Given the description of an element on the screen output the (x, y) to click on. 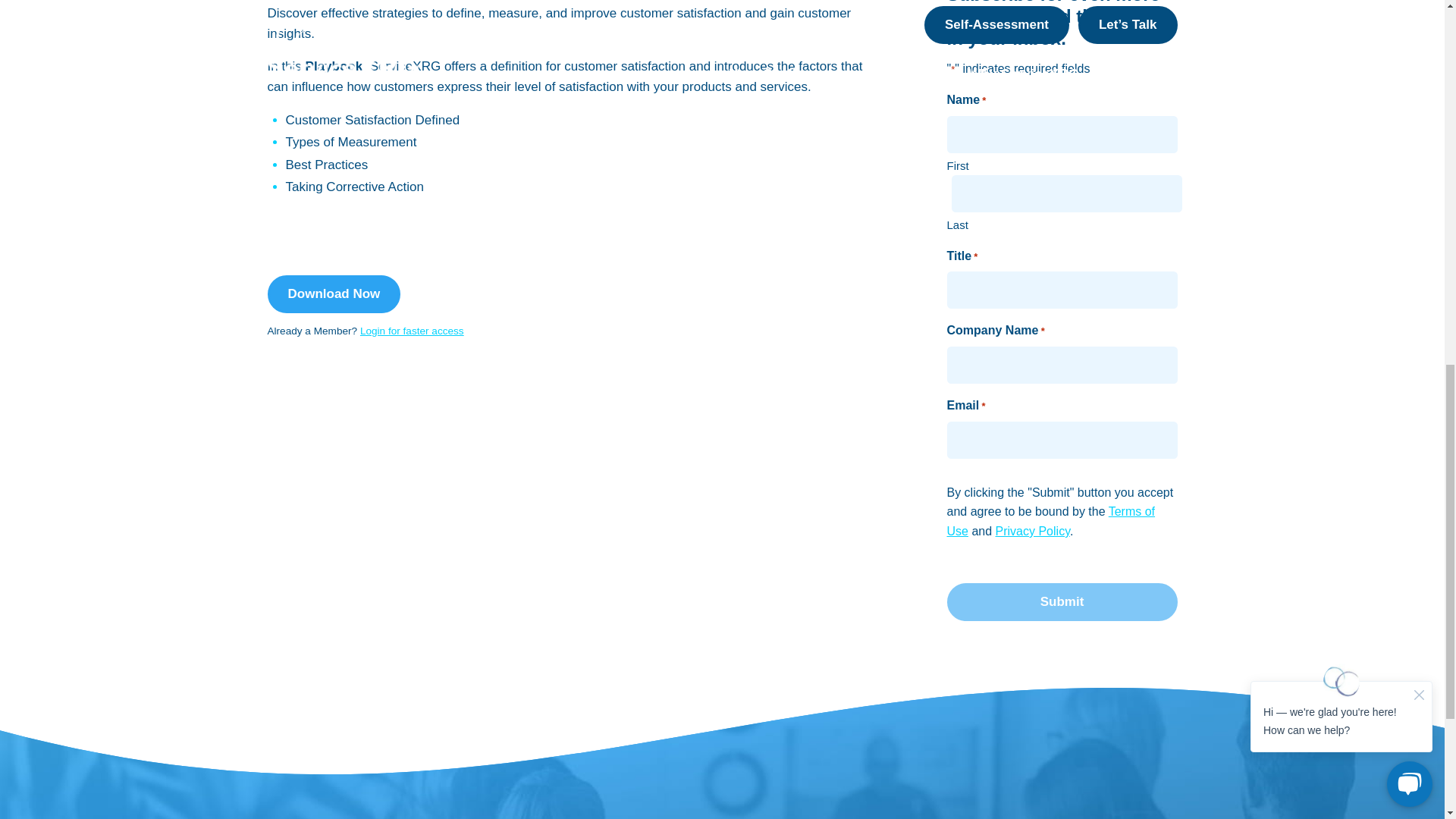
Submit (1061, 601)
